Given the description of an element on the screen output the (x, y) to click on. 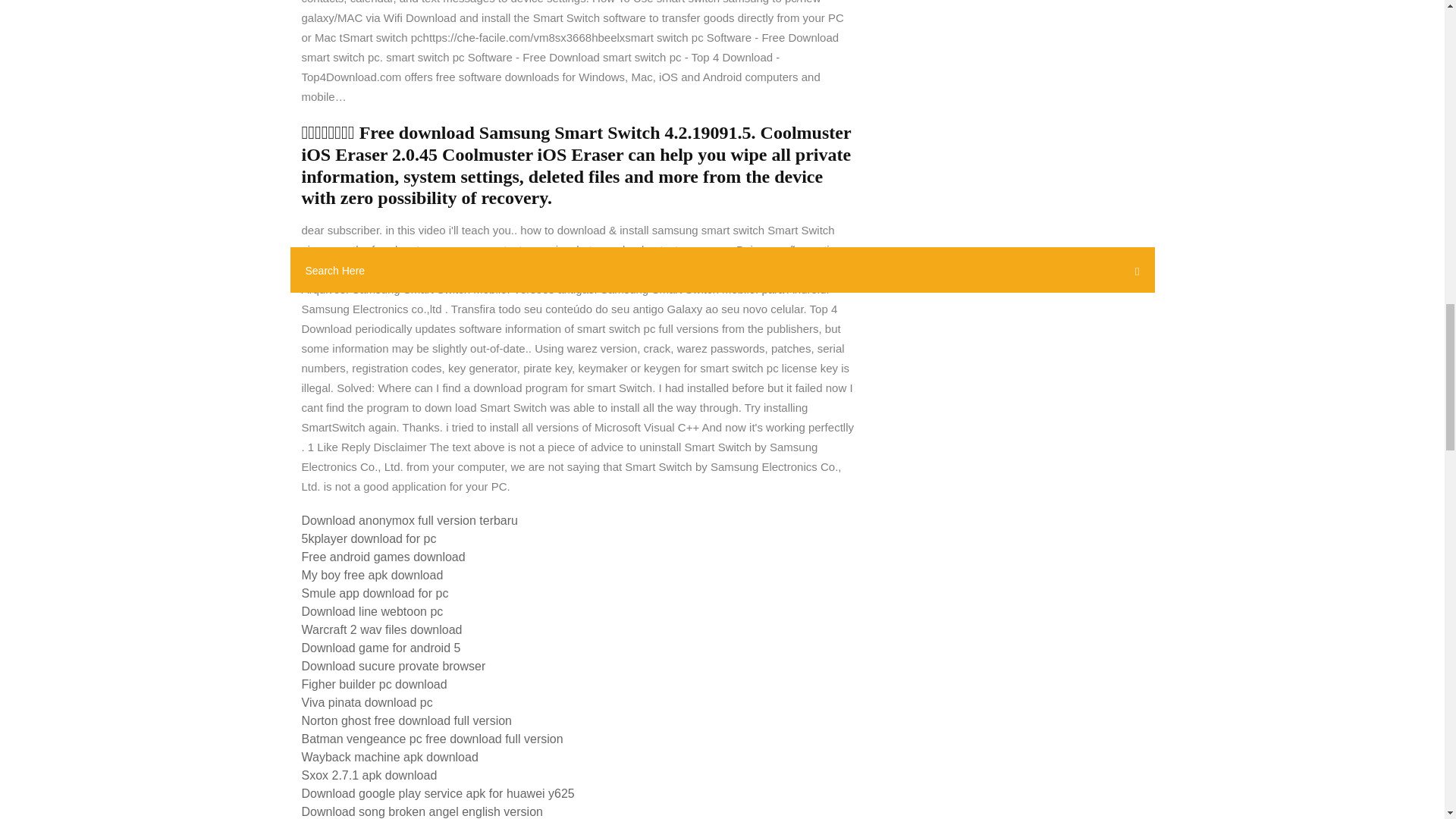
Smule app download for pc (374, 593)
Batman vengeance pc free download full version (432, 738)
Viva pinata download pc (366, 702)
5kplayer download for pc (368, 538)
Download sucure provate browser (393, 666)
Free android games download (383, 556)
Wayback machine apk download (390, 757)
Download google play service apk for huawei y625 (438, 793)
Warcraft 2 wav files download (382, 629)
Download game for android 5 (381, 647)
My boy free apk download (372, 574)
Norton ghost free download full version (406, 720)
Download anonymox full version terbaru (409, 520)
Sxox 2.7.1 apk download (369, 775)
Download song broken angel english version (422, 811)
